Given the description of an element on the screen output the (x, y) to click on. 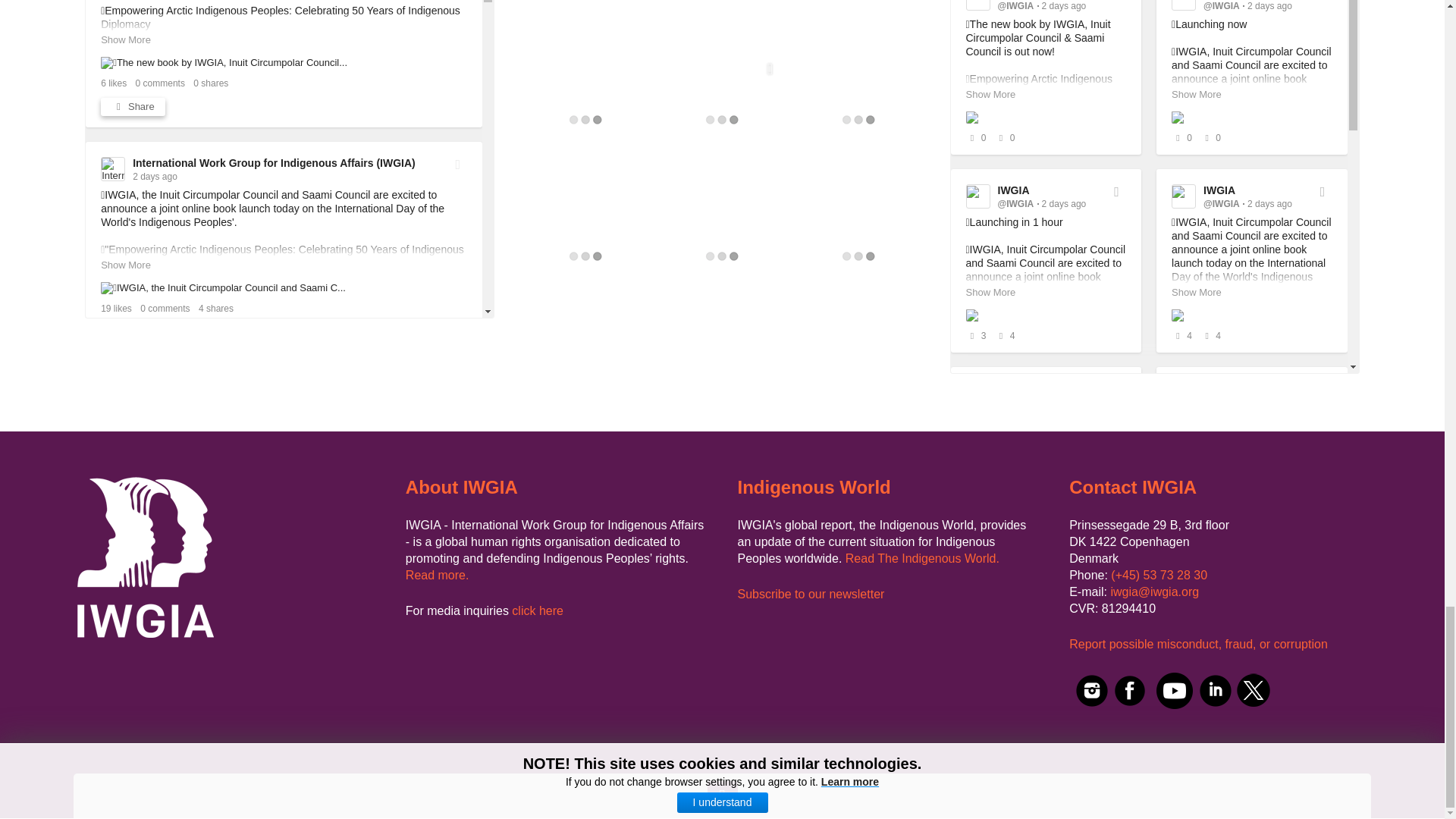
View on Facebook (457, 164)
View on Facebook (457, 613)
View on Facebook (457, 389)
